Given the description of an element on the screen output the (x, y) to click on. 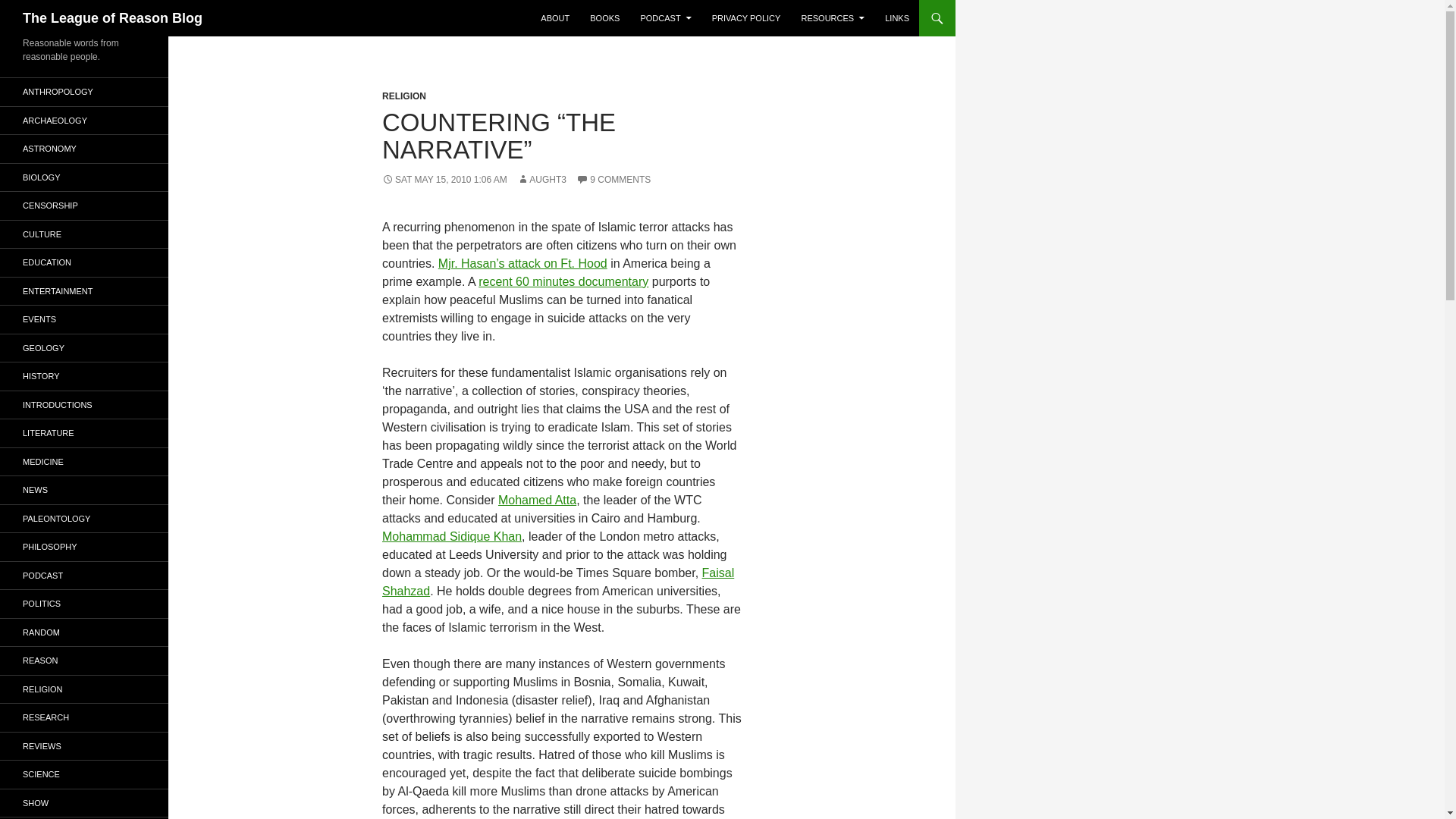
ABOUT (554, 18)
AUGHT3 (541, 179)
PRIVACY POLICY (746, 18)
Mohamed Atta (536, 499)
Mohammad Sidique Khan (451, 535)
RELIGION (403, 95)
Faisal Shahzad (557, 581)
PODCAST (665, 18)
recent 60 minutes documentary (563, 281)
The League of Reason Blog (112, 18)
RESOURCES (832, 18)
9 COMMENTS (613, 179)
LINKS (897, 18)
BOOKS (604, 18)
